Given the description of an element on the screen output the (x, y) to click on. 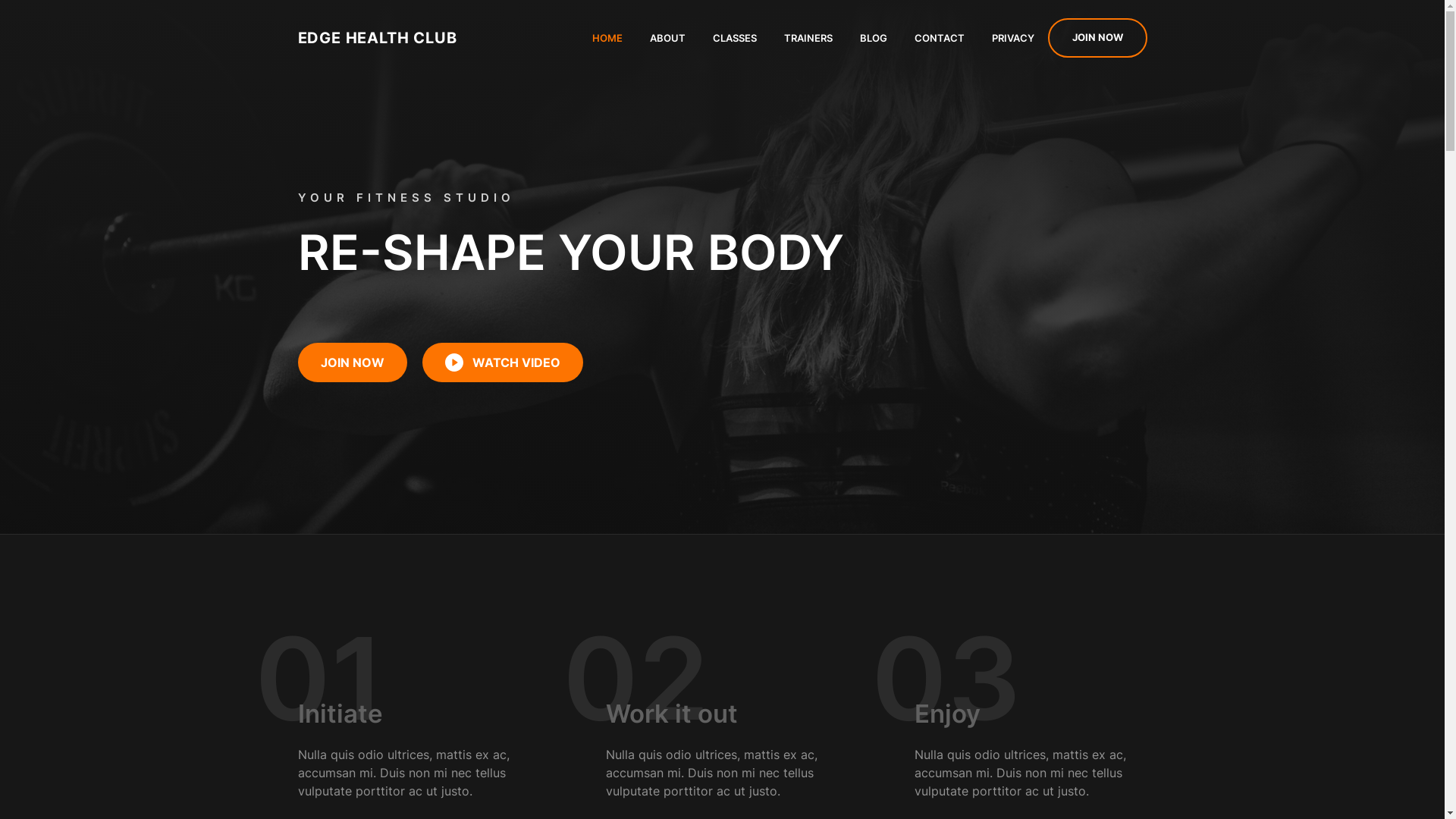
CONTACT Element type: text (939, 37)
EDGE HEALTH CLUB Element type: text (376, 37)
CLASSES Element type: text (734, 37)
TRAINERS Element type: text (808, 37)
JOIN NOW Element type: text (1097, 37)
HOME Element type: text (606, 37)
WATCH VIDEO Element type: text (501, 362)
BLOG Element type: text (873, 37)
ABOUT Element type: text (666, 37)
JOIN NOW Element type: text (351, 362)
PRIVACY Element type: text (1013, 37)
